Given the description of an element on the screen output the (x, y) to click on. 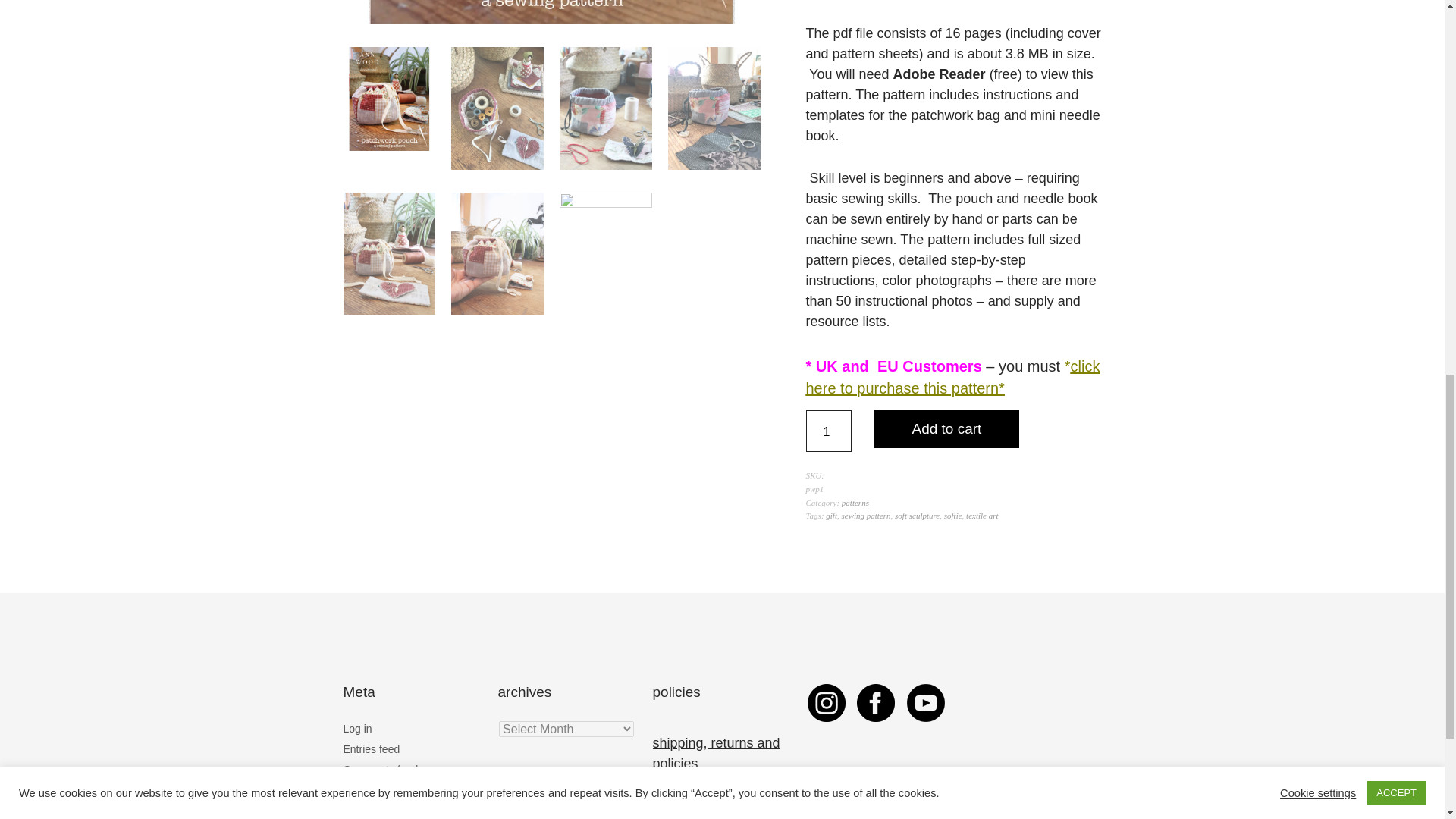
patchwork pouch pattern (551, 12)
1 (827, 431)
